Given the description of an element on the screen output the (x, y) to click on. 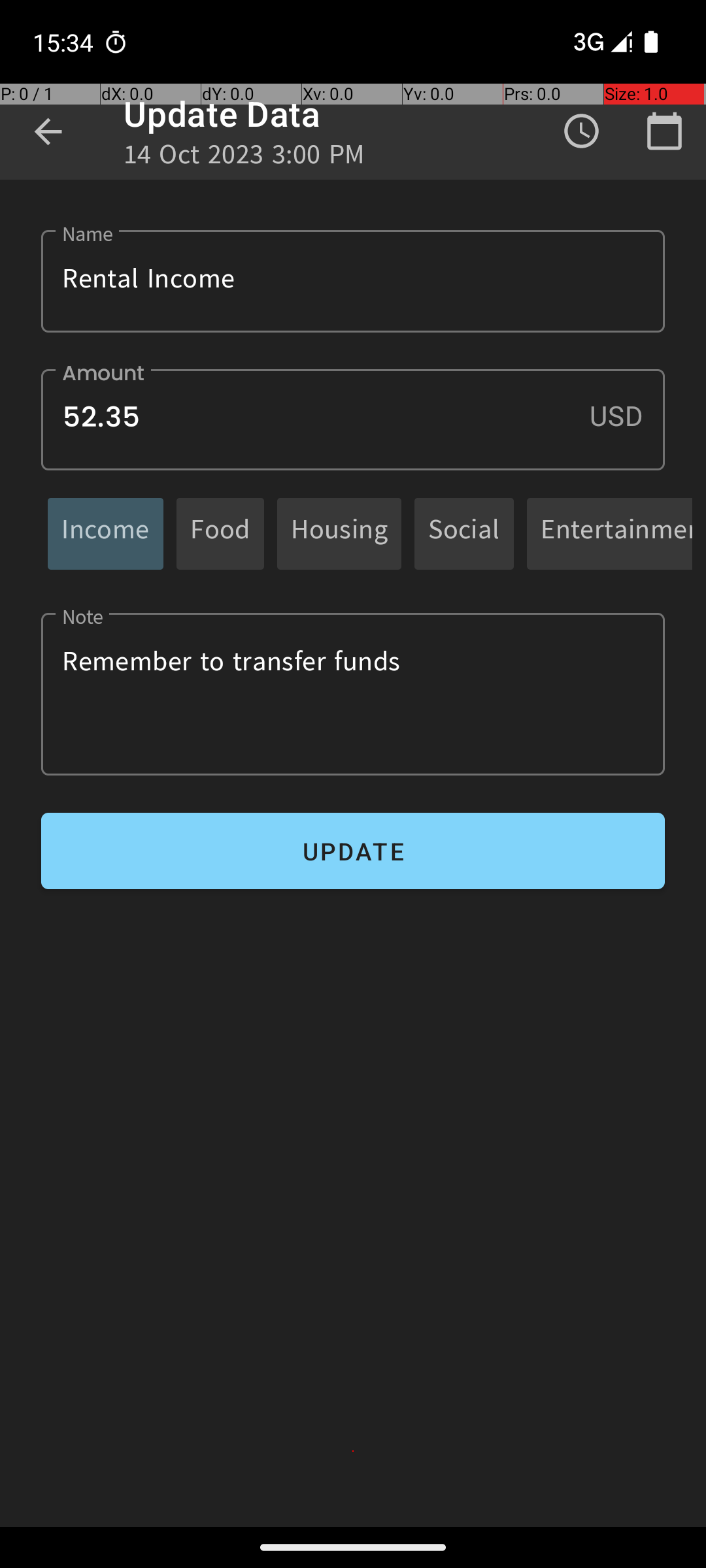
14 Oct 2023 3:00 PM Element type: android.widget.TextView (244, 157)
52.35 Element type: android.widget.EditText (352, 419)
